Given the description of an element on the screen output the (x, y) to click on. 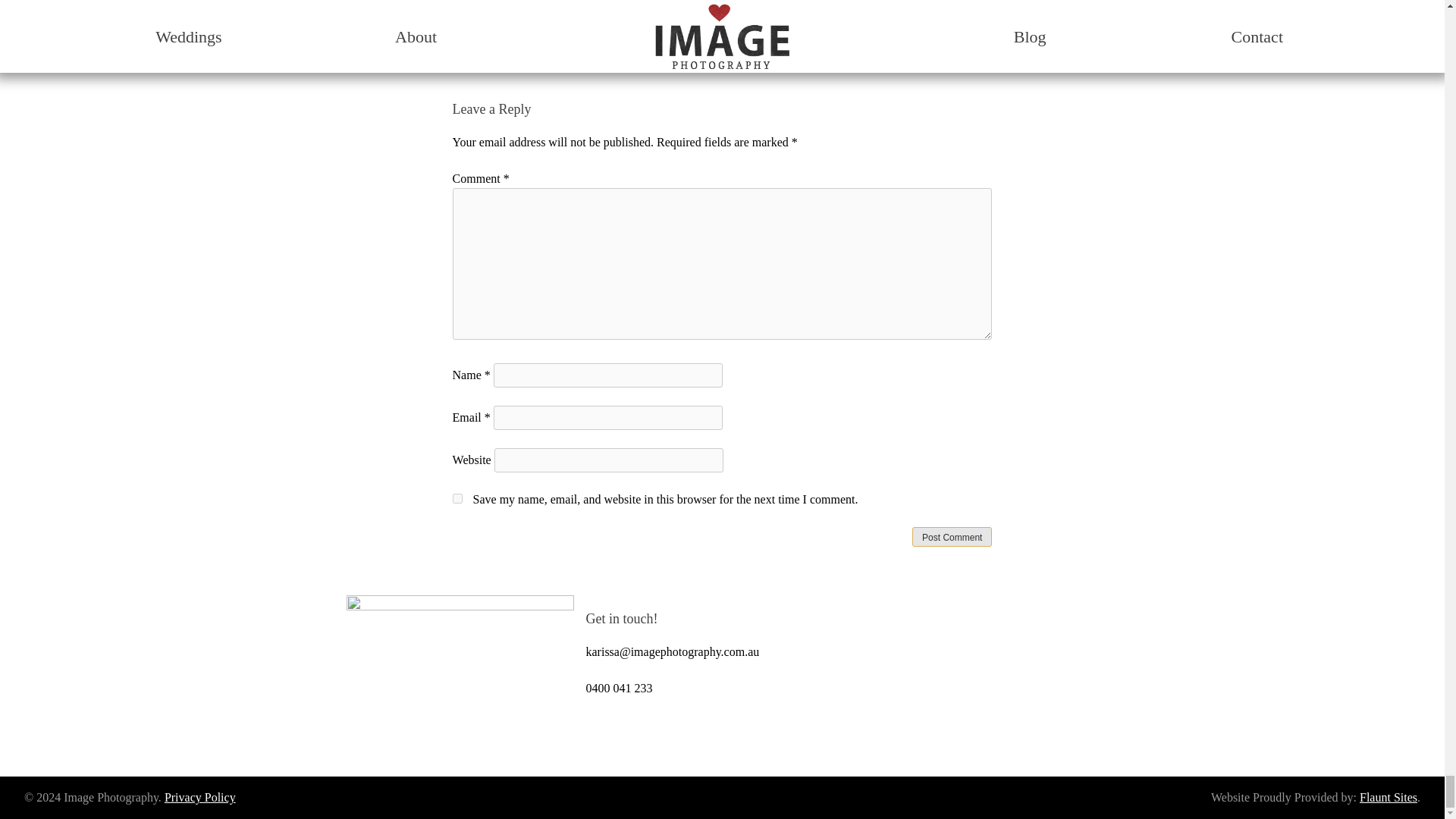
Privacy Policy (199, 797)
Post Comment (951, 537)
yes (457, 498)
Post Comment (951, 537)
Flaunt Sites (1387, 797)
